Given the description of an element on the screen output the (x, y) to click on. 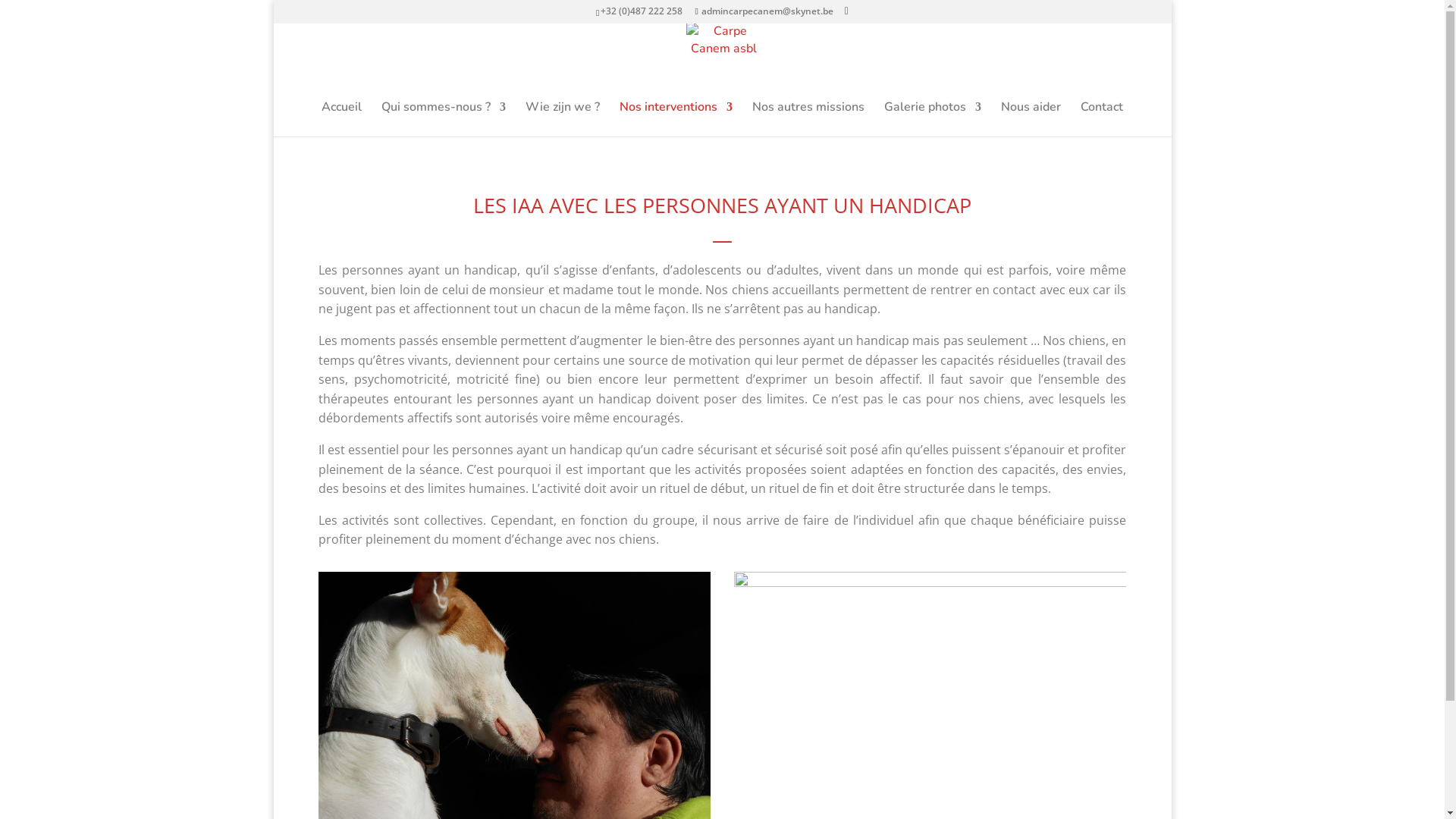
Nos interventions Element type: text (675, 118)
Nos autres missions Element type: text (808, 118)
Galerie photos Element type: text (932, 118)
Wie zijn we ? Element type: text (562, 118)
Accueil Element type: text (341, 118)
Contact Element type: text (1101, 118)
Nous aider Element type: text (1030, 118)
Qui sommes-nous ? Element type: text (443, 118)
admincarpecanem@skynet.be Element type: text (763, 10)
